Given the description of an element on the screen output the (x, y) to click on. 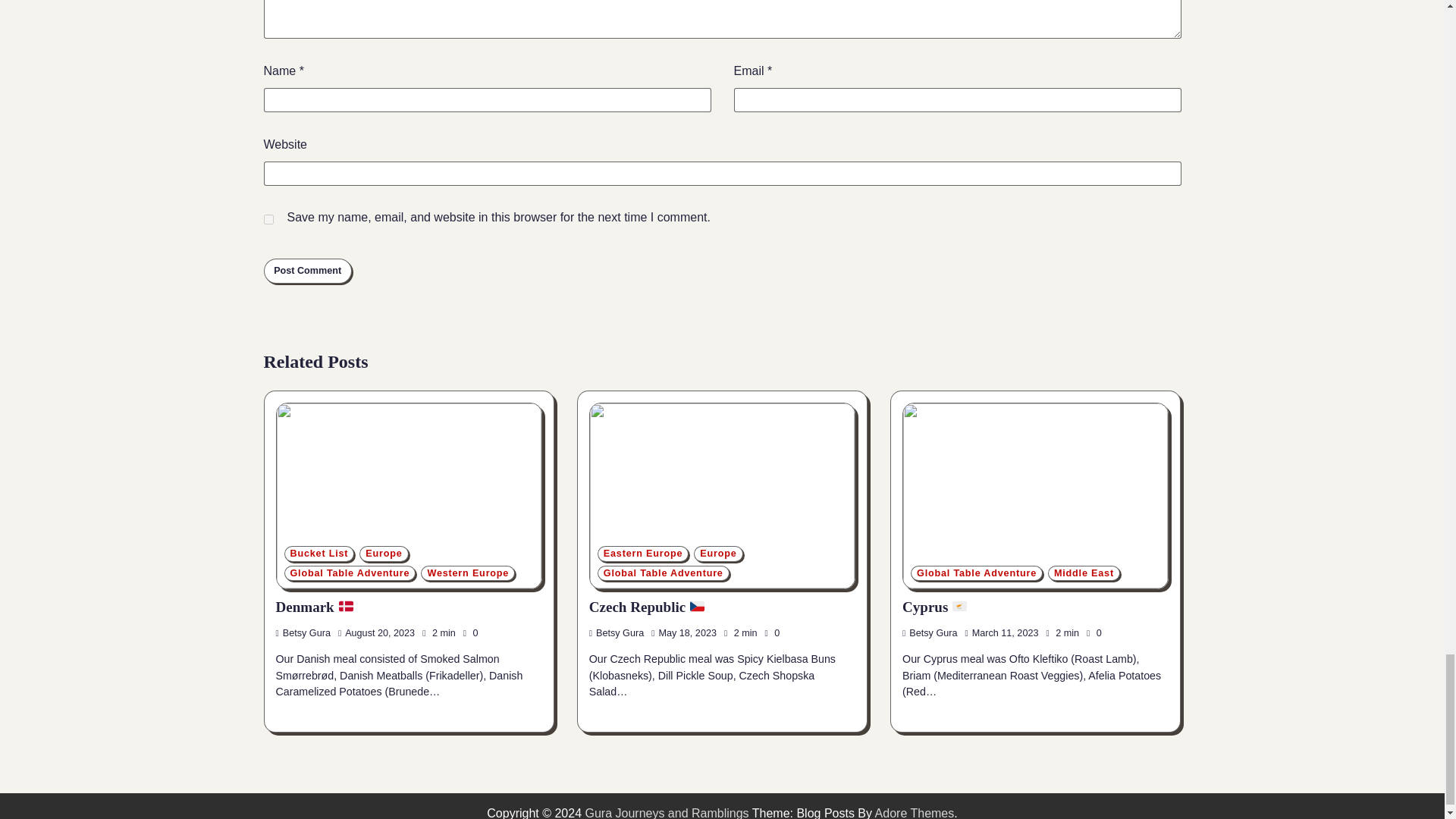
yes (268, 218)
Post Comment (307, 270)
